Given the description of an element on the screen output the (x, y) to click on. 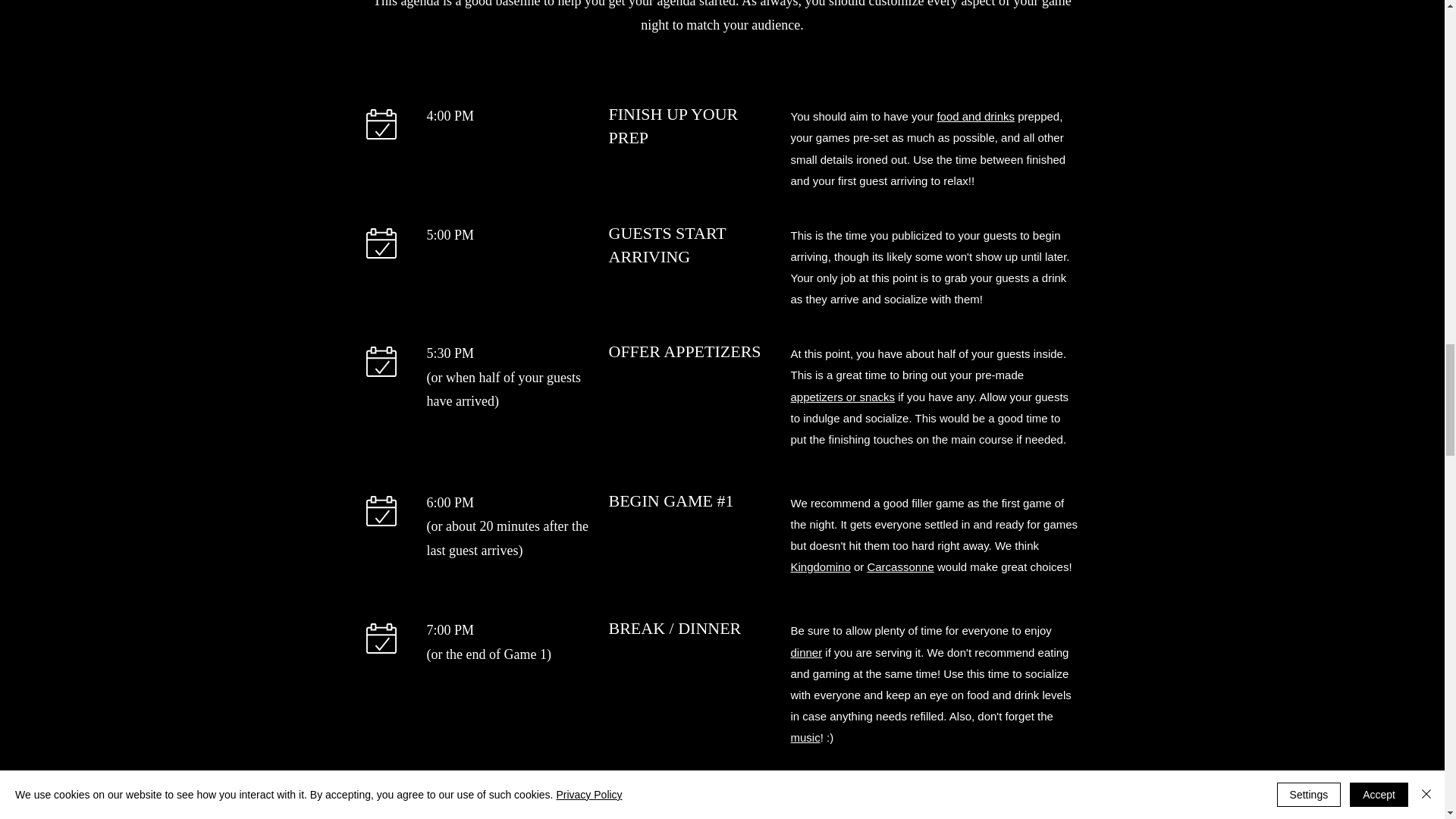
music (804, 737)
dinner (806, 652)
Carcassonne (899, 566)
appetizers or snacks (842, 396)
Kingdomino (820, 566)
food and drinks (975, 115)
